Given the description of an element on the screen output the (x, y) to click on. 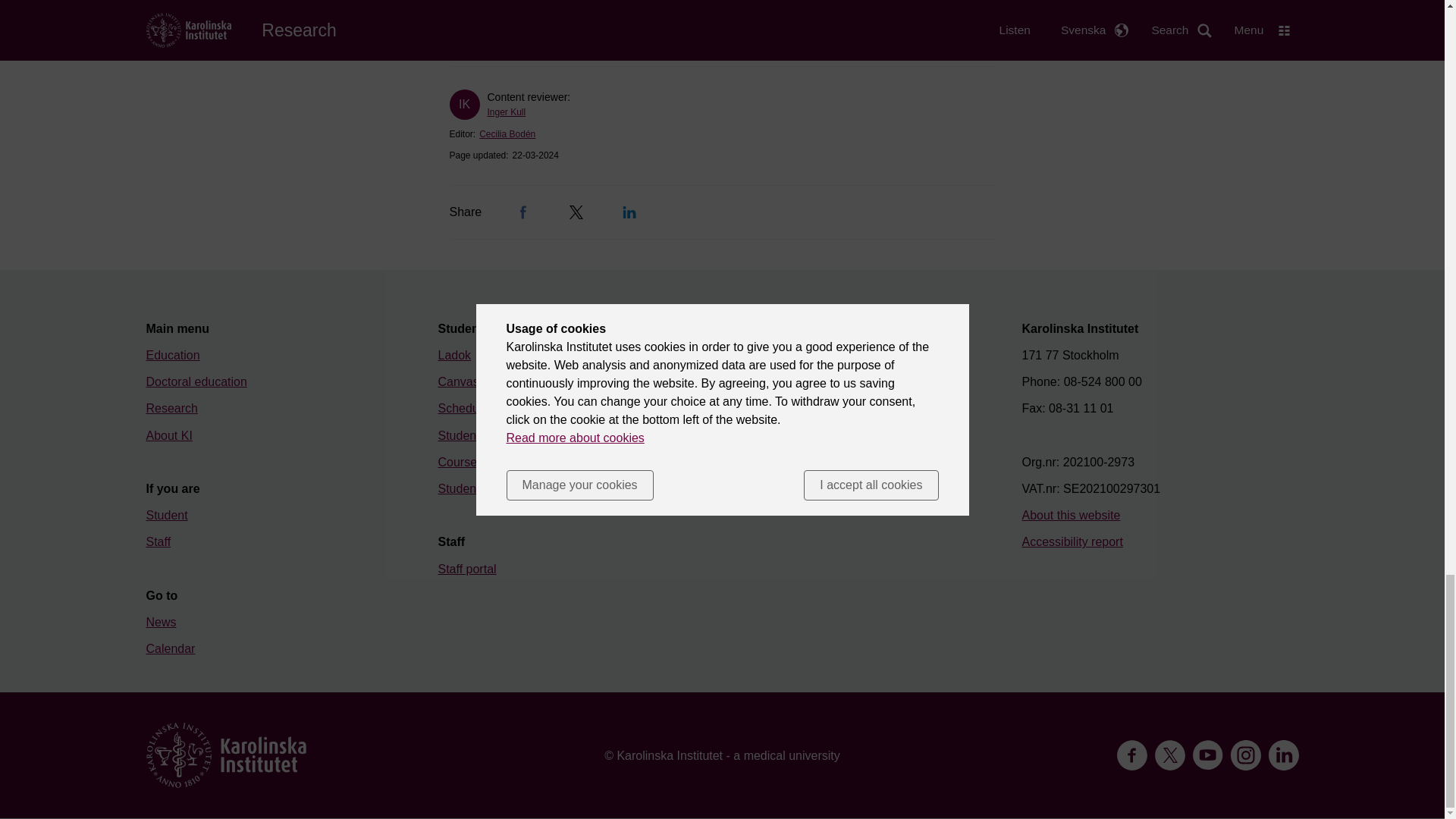
Ladok (454, 354)
Research (170, 408)
Calendar (170, 648)
Staff (157, 541)
Inger Kull (505, 112)
Home (225, 754)
News (160, 621)
Twitter (576, 212)
Student (166, 514)
LinkedIn (629, 212)
Education (172, 354)
Doctoral education (195, 381)
Canvas (458, 381)
Facebook (523, 212)
About KI (168, 435)
